Given the description of an element on the screen output the (x, y) to click on. 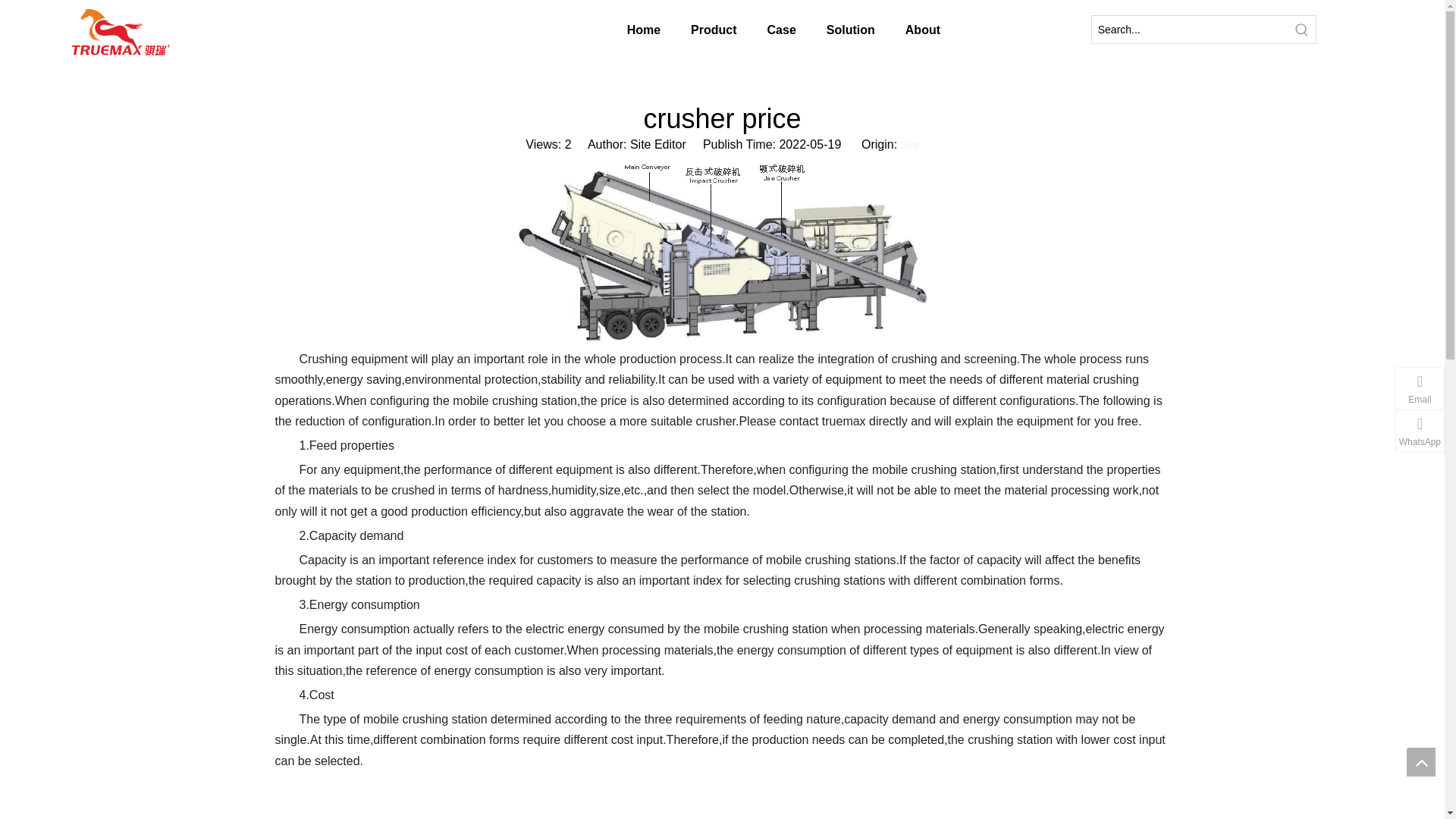
Home (557, 30)
About   (911, 30)
Case   (727, 30)
Solution   (817, 30)
Product   (638, 30)
